Given the description of an element on the screen output the (x, y) to click on. 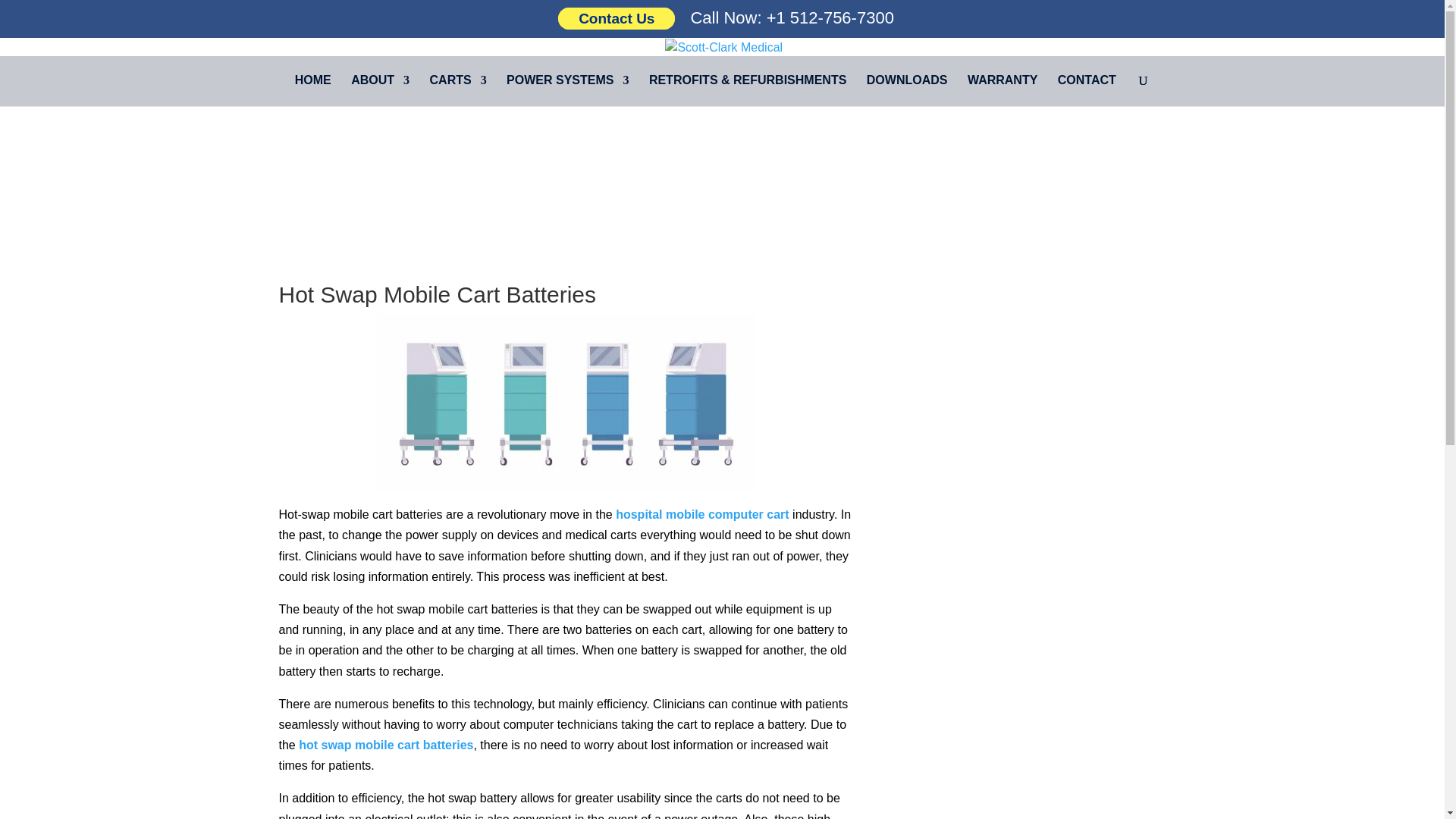
WARRANTY (1002, 90)
Scott-Clark Medical (313, 90)
POWER SYSTEMS (567, 90)
DOWNLOADS (906, 90)
HOME (313, 90)
Contact Us (616, 18)
CARTS (457, 90)
ABOUT (379, 90)
CONTACT (1087, 90)
hospital mobile computer cart (702, 513)
